Given the description of an element on the screen output the (x, y) to click on. 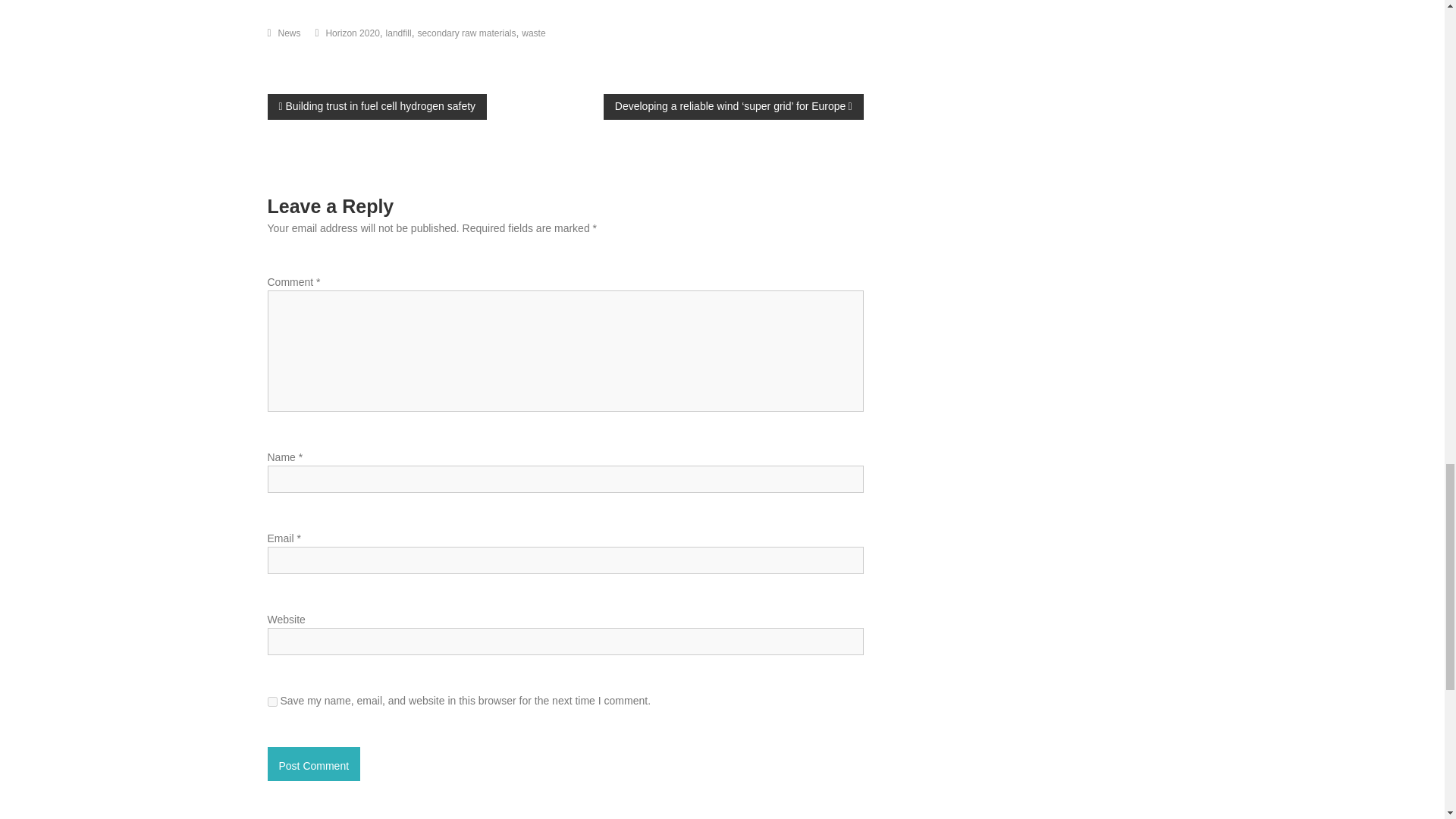
Building trust in fuel cell hydrogen safety (376, 106)
Post Comment (312, 763)
News (289, 32)
Horizon 2020 (351, 32)
yes (271, 701)
Post Comment (312, 763)
waste (532, 32)
secondary raw materials (465, 32)
landfill (398, 32)
